Given the description of an element on the screen output the (x, y) to click on. 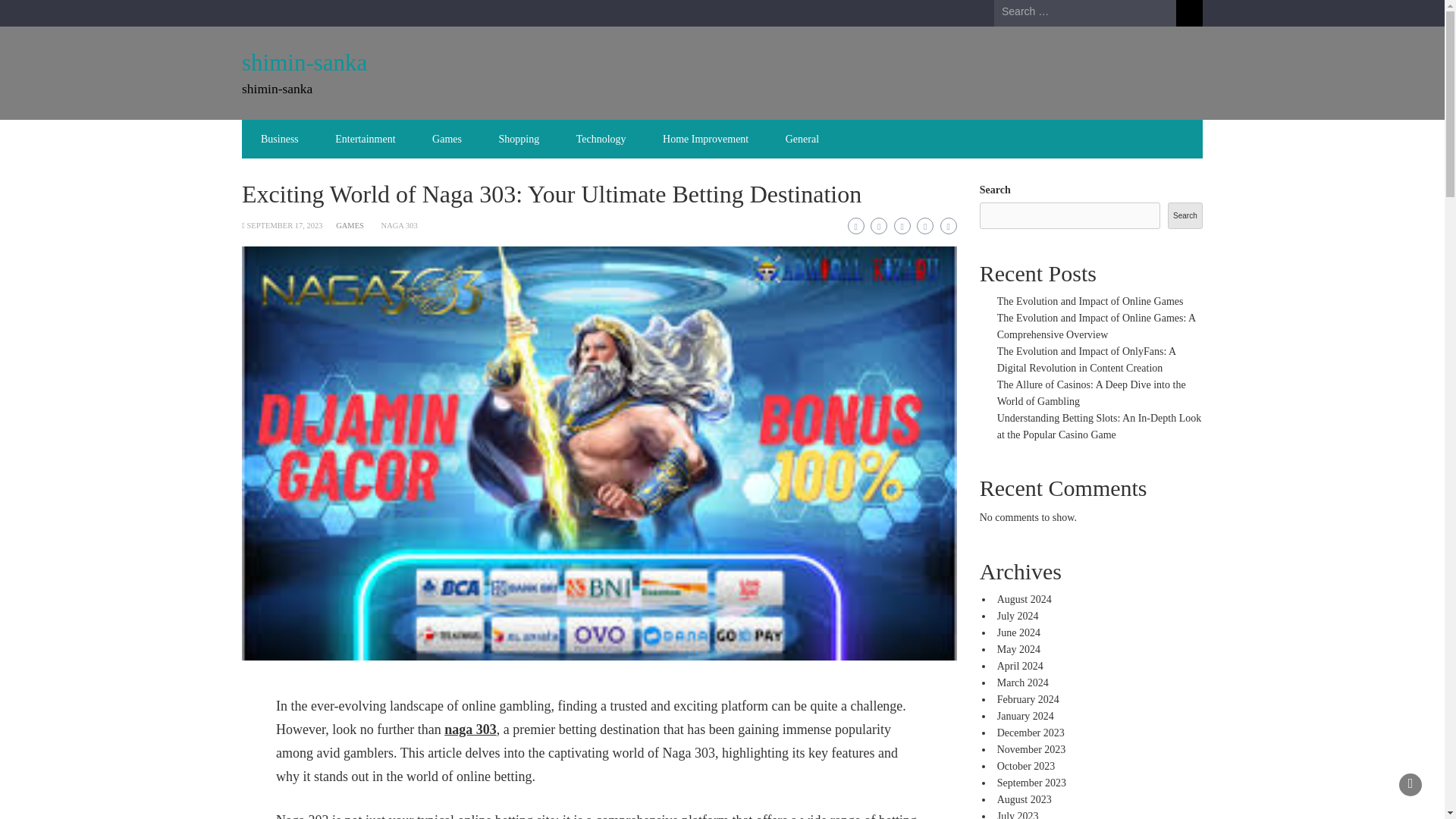
Search for: (1085, 11)
Business (280, 138)
April 2024 (1020, 665)
June 2024 (1019, 632)
SEPTEMBER 17, 2023 (283, 225)
General (802, 138)
The Evolution and Impact of Online Games (1090, 301)
Games (446, 138)
